Given the description of an element on the screen output the (x, y) to click on. 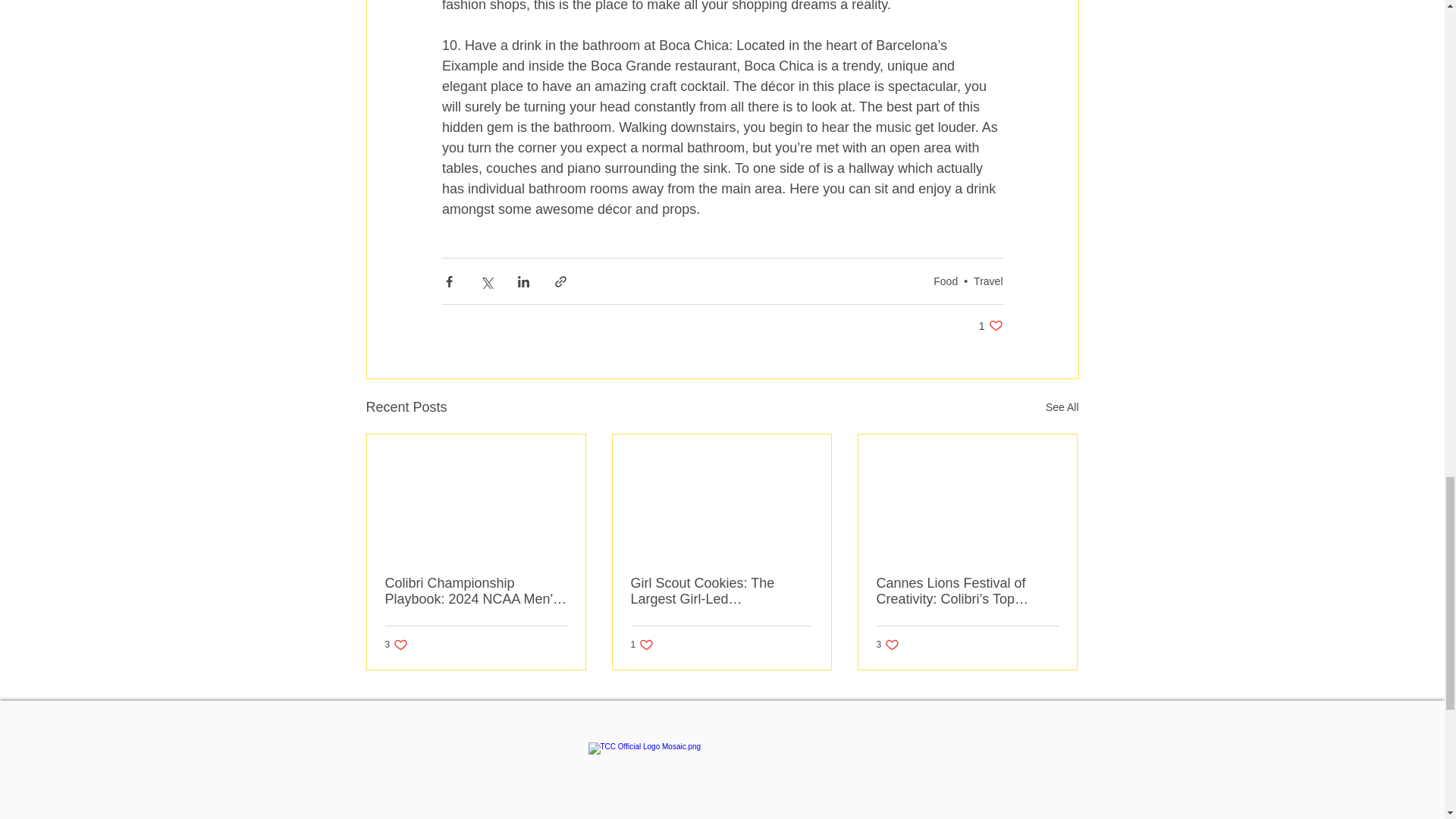
Travel (988, 280)
Food (990, 325)
